Given the description of an element on the screen output the (x, y) to click on. 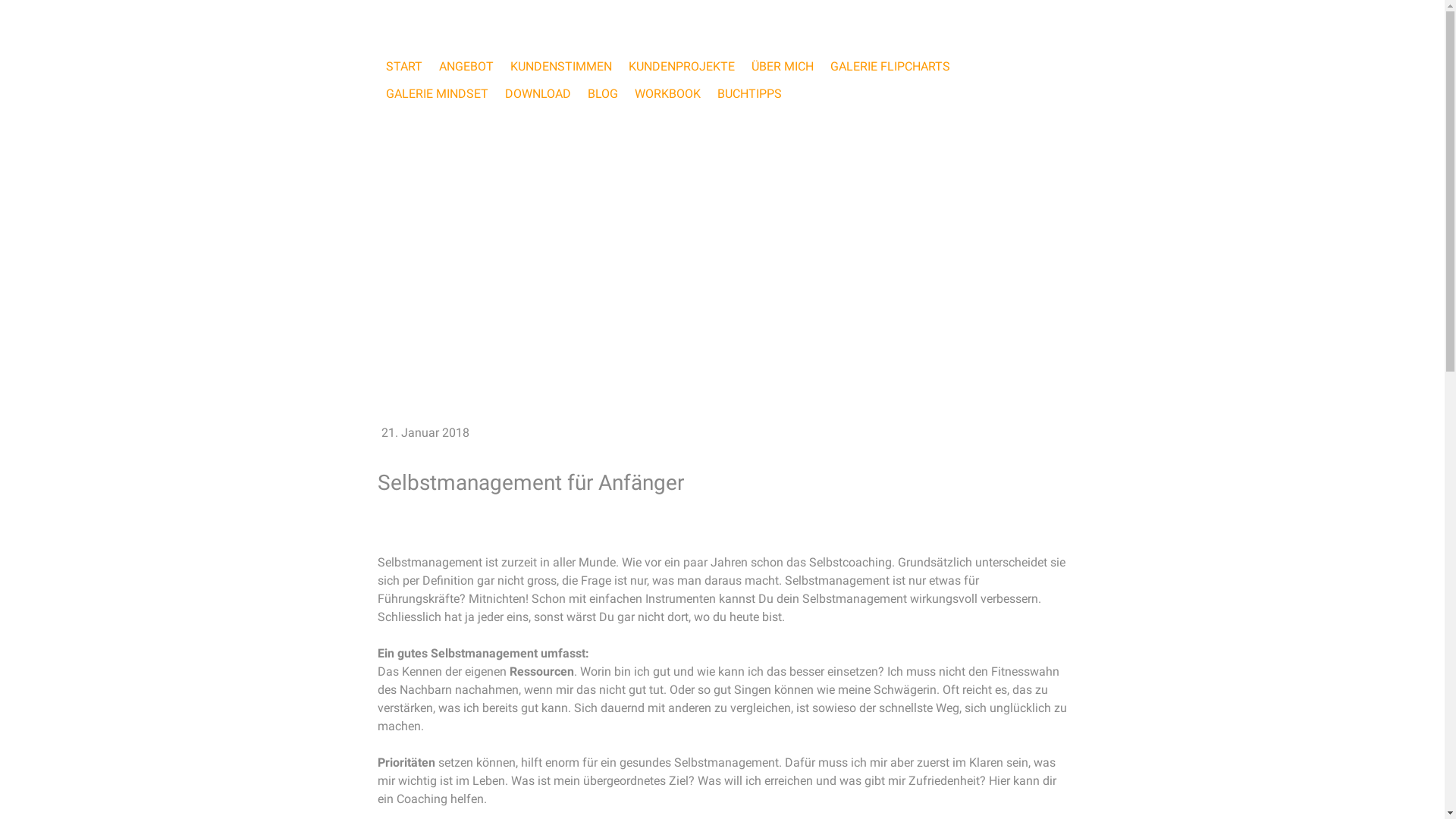
GALERIE MINDSET Element type: text (436, 93)
ANGEBOT Element type: text (466, 66)
BLOG Element type: text (602, 93)
KUNDENPROJEKTE Element type: text (681, 66)
WORKBOOK Element type: text (667, 93)
DOWNLOAD Element type: text (536, 93)
GALERIE FLIPCHARTS Element type: text (890, 66)
BUCHTIPPS Element type: text (748, 93)
START Element type: text (403, 66)
KUNDENSTIMMEN Element type: text (561, 66)
